Given the description of an element on the screen output the (x, y) to click on. 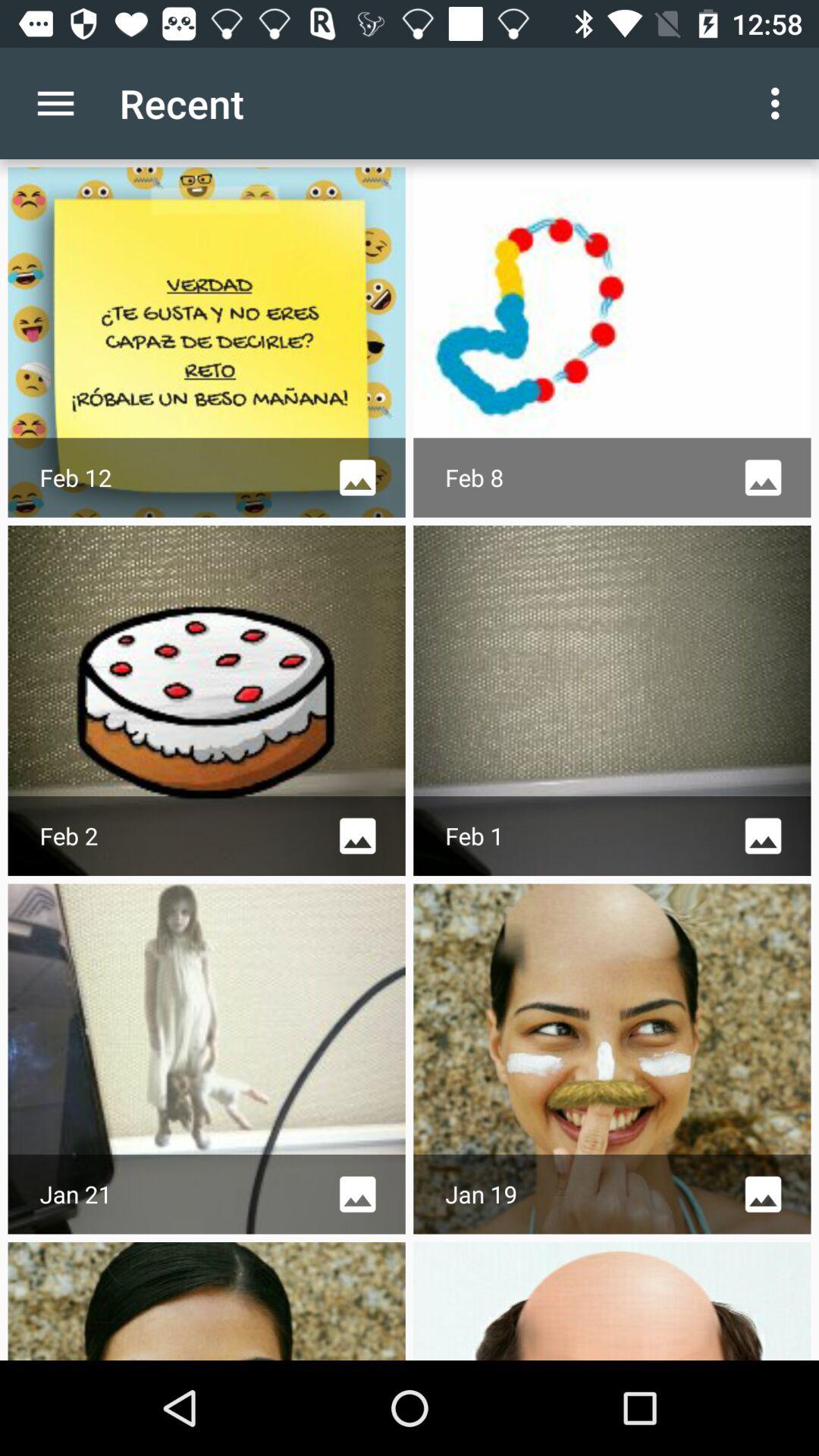
press icon to the right of the recent app (779, 103)
